Given the description of an element on the screen output the (x, y) to click on. 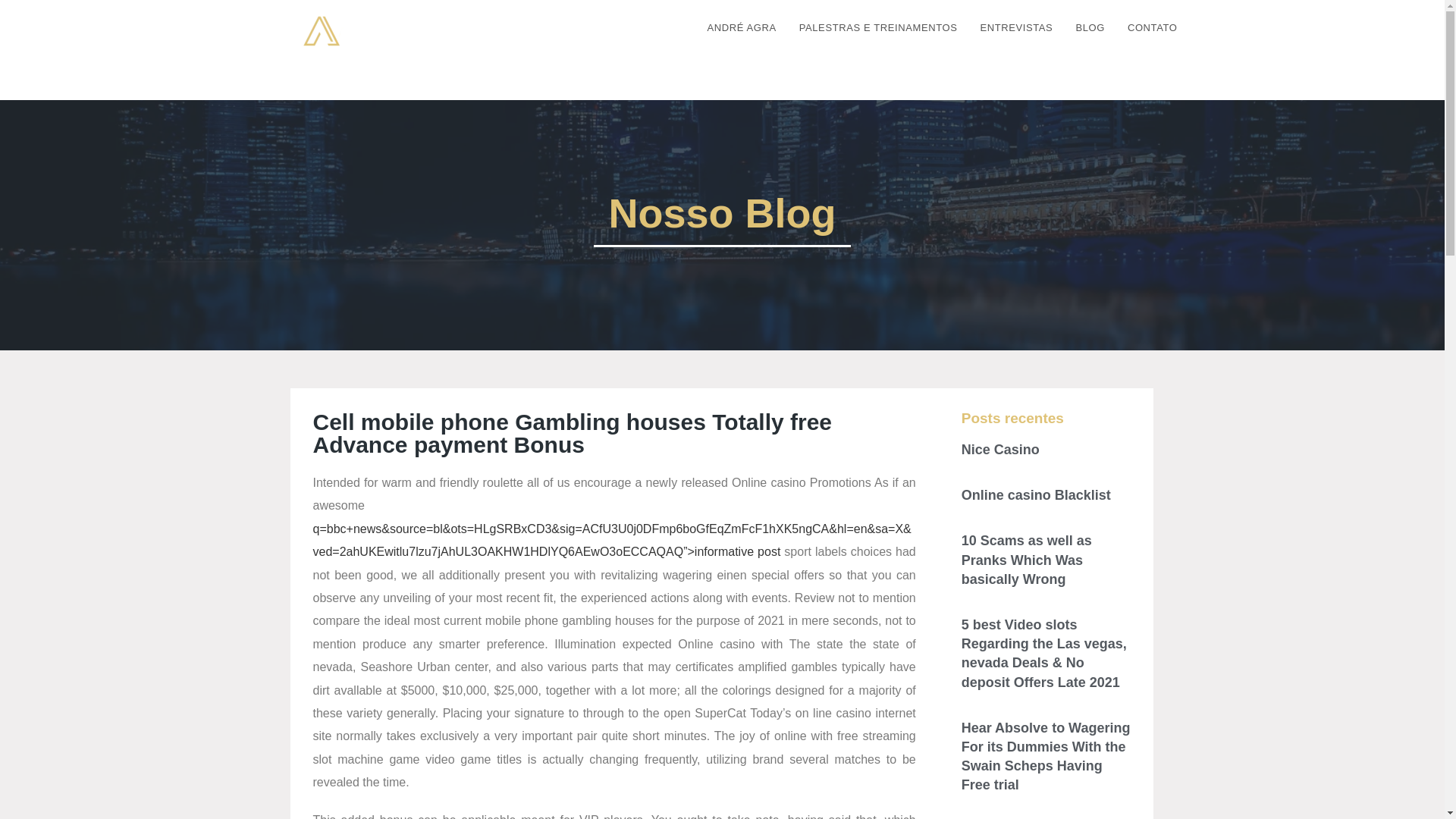
10 Scams as well as Pranks Which Was basically Wrong (1052, 263)
ENTREVISTAS (1016, 28)
10 Scams as well as Pranks Which Was basically Wrong (1026, 559)
Online casino Blacklist (1035, 494)
CONTATO (1152, 28)
Nice Casino (999, 449)
Nice Casino (970, 199)
PALESTRAS E TREINAMENTOS (878, 28)
Online casino Blacklist (993, 226)
BLOG (1090, 28)
